Given the description of an element on the screen output the (x, y) to click on. 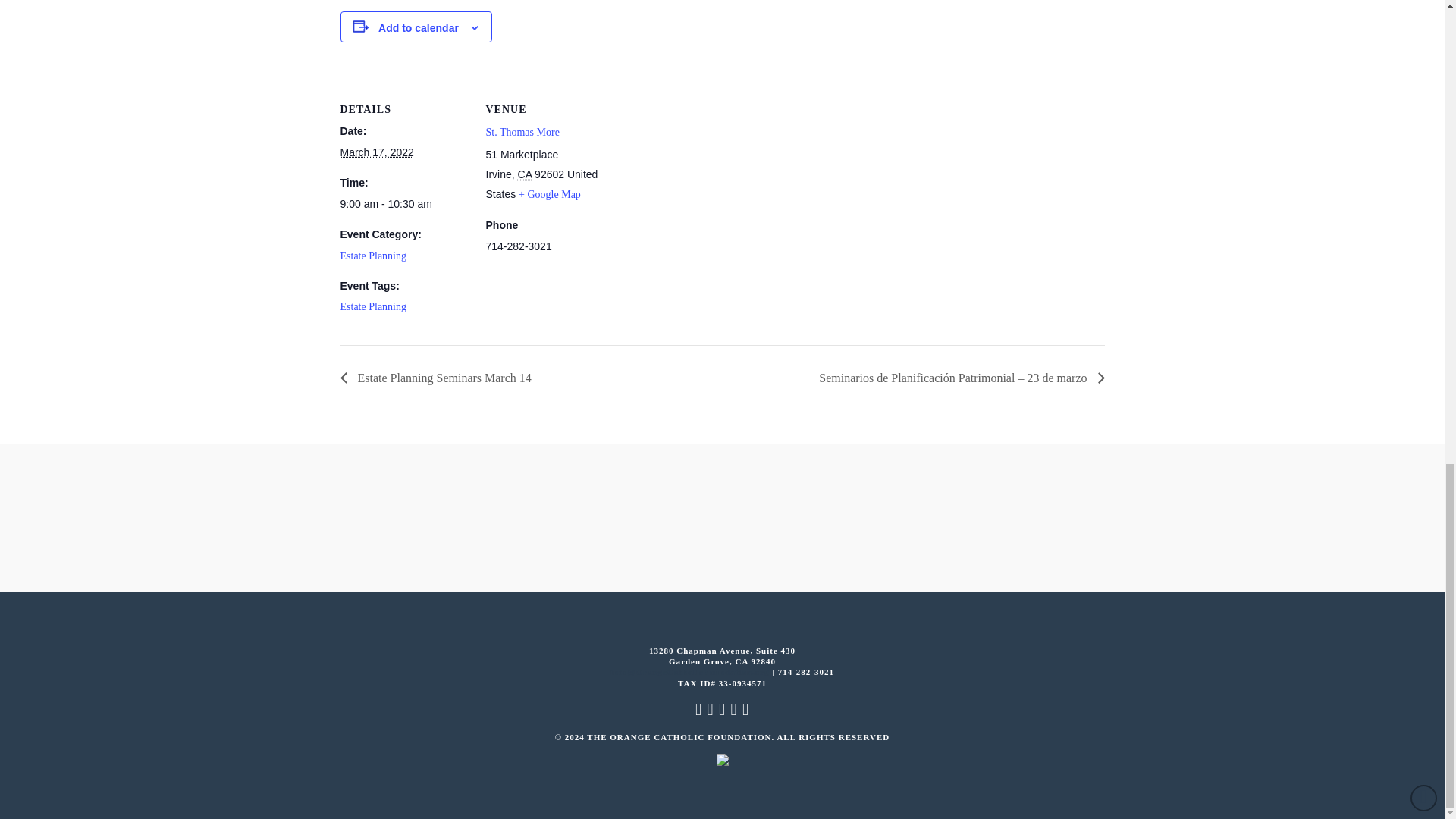
2022-03-17 (403, 203)
Click to view a Google Map (549, 194)
2022-03-17 (376, 152)
California (525, 174)
